Given the description of an element on the screen output the (x, y) to click on. 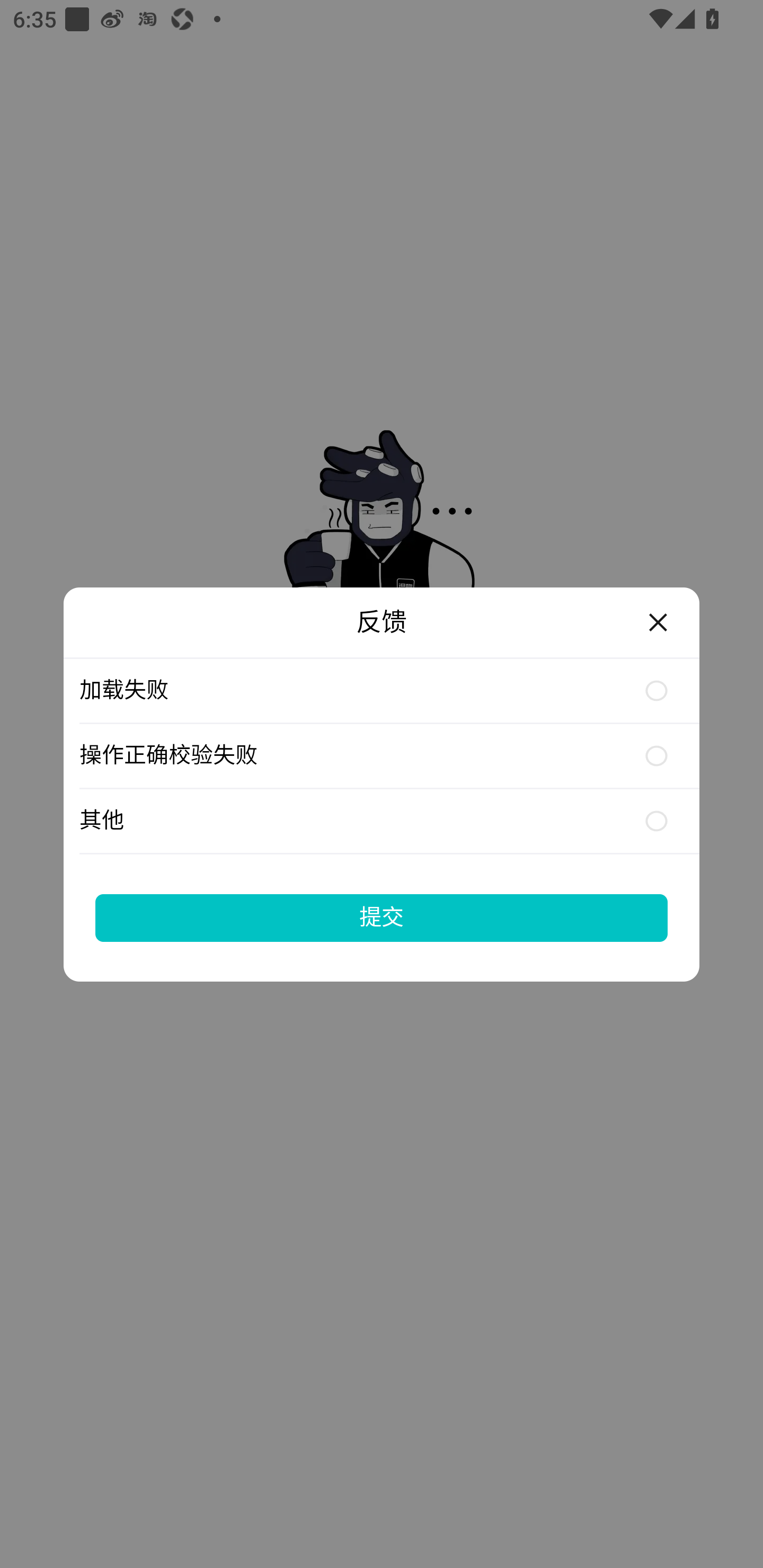
提交 (381, 917)
